Given the description of an element on the screen output the (x, y) to click on. 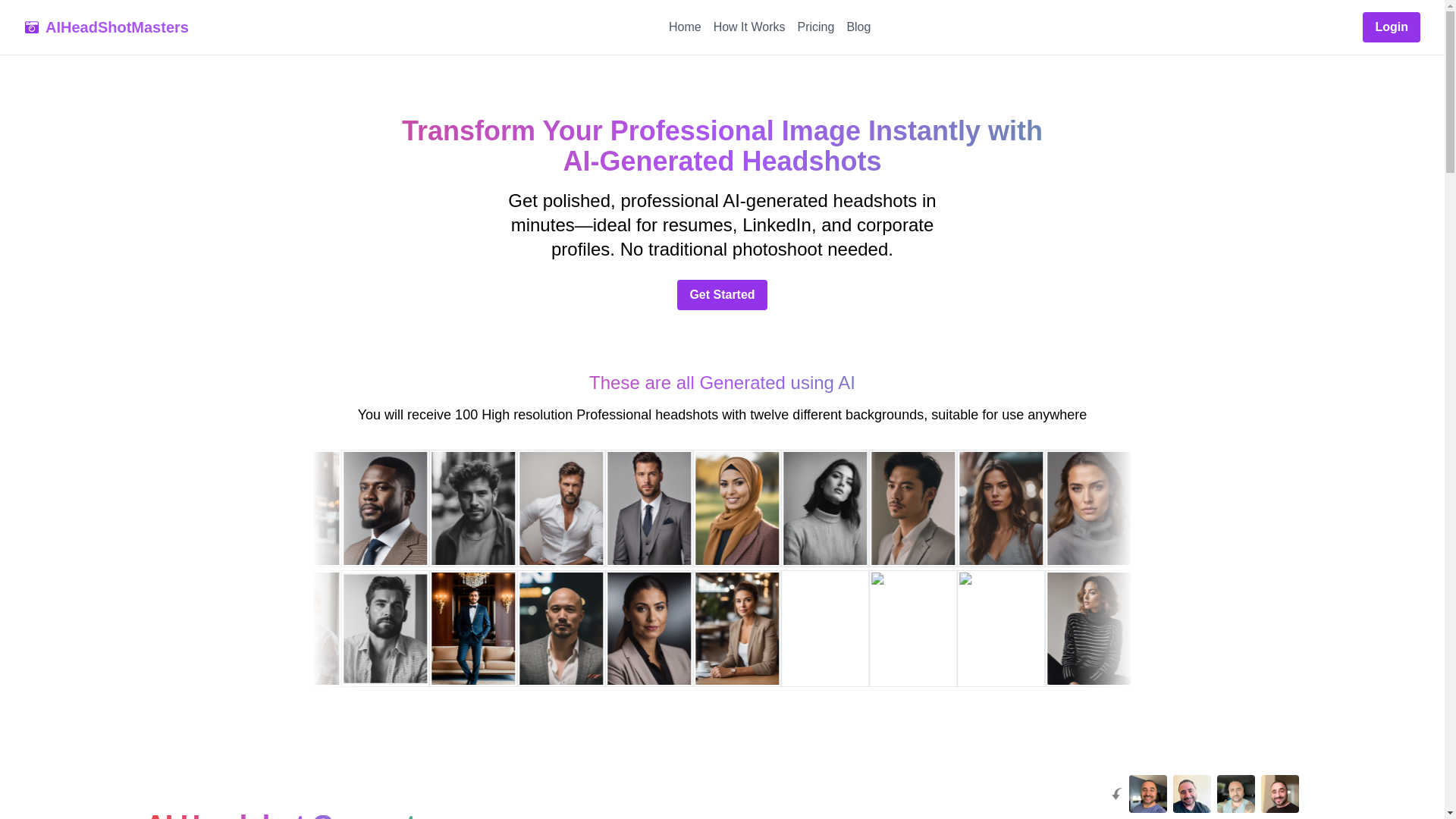
How It Works (749, 27)
Get Started (722, 294)
Pricing (815, 27)
Login (1391, 27)
Blog (857, 27)
Login (1391, 26)
Get Started (722, 295)
Home (684, 27)
AIHeadShotMasters (106, 26)
